Given the description of an element on the screen output the (x, y) to click on. 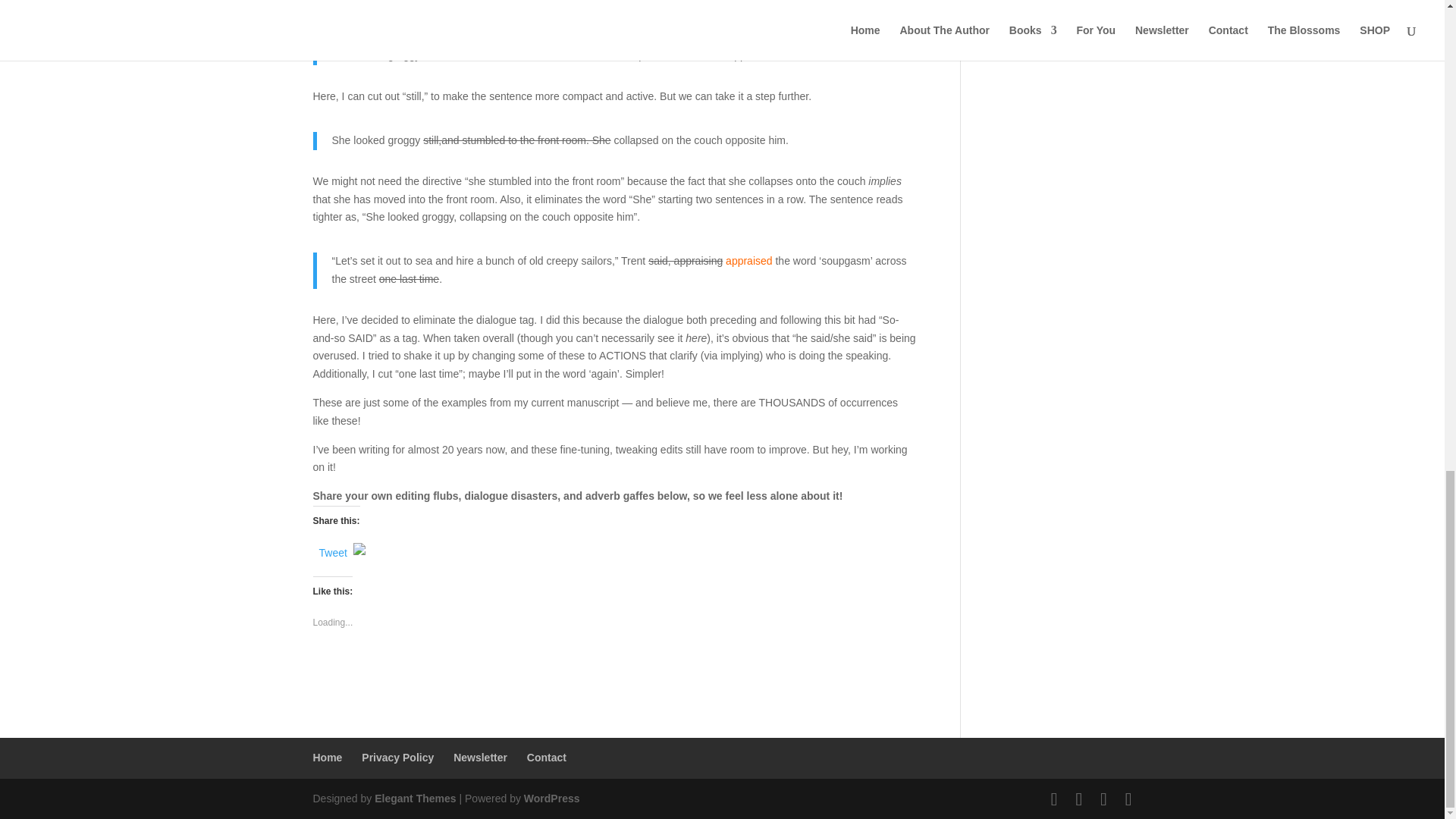
Premium WordPress Themes (414, 798)
Home (327, 757)
Privacy Policy (397, 757)
Contact (546, 757)
Tweet (332, 549)
Newsletter (479, 757)
